Given the description of an element on the screen output the (x, y) to click on. 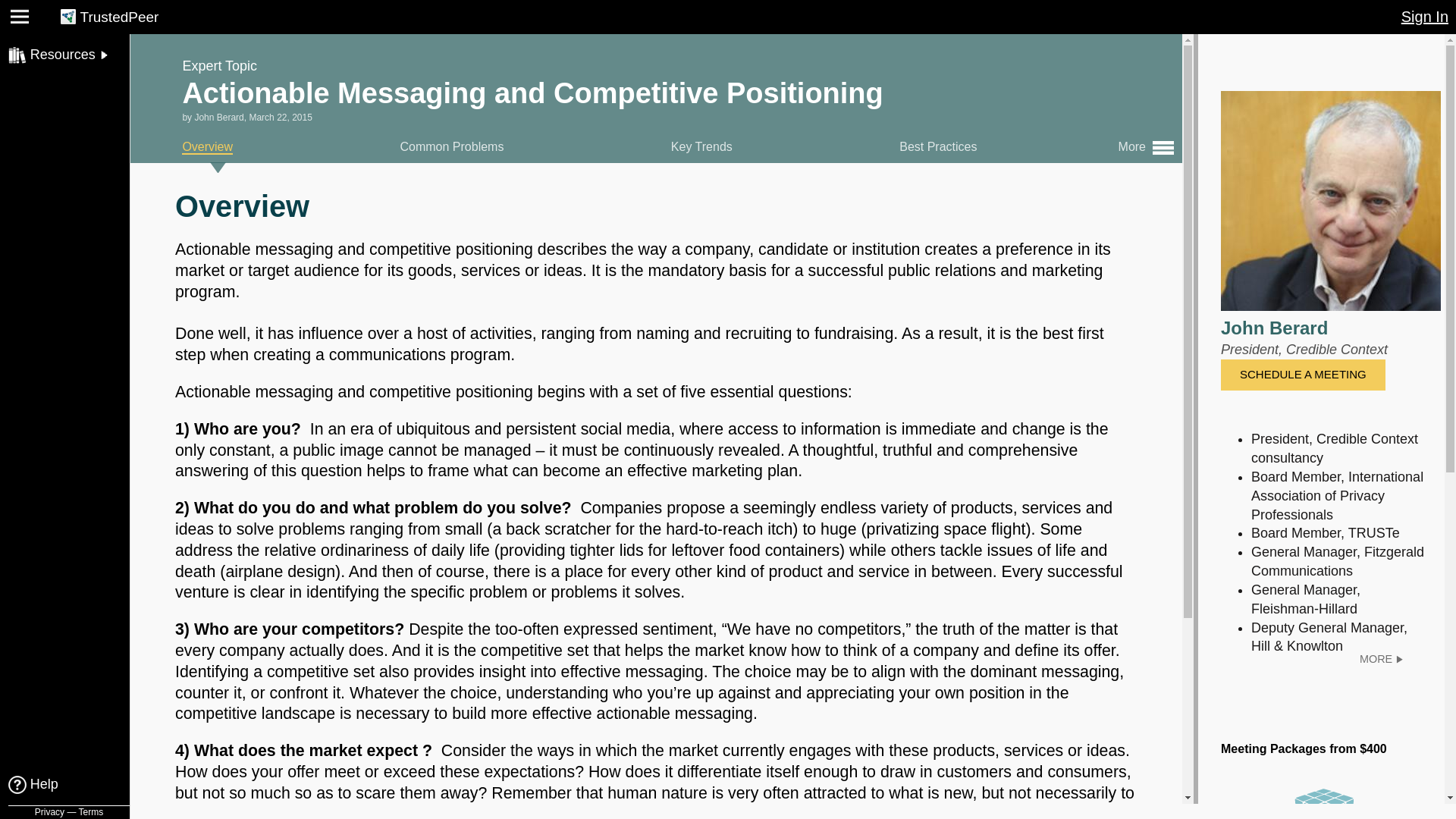
Best Practices (937, 146)
Terms (90, 811)
Key Trends (701, 146)
Privacy (49, 811)
Credible Context (1336, 349)
Jump to Menu Navigation (44, 25)
View Expert's Profile (1382, 658)
View John Berard's Profile (1274, 327)
John Berard (1274, 327)
Jump to Main Content (36, 25)
Common Problems (451, 146)
TrustedPeer (119, 17)
SCHEDULE A MEETING (1303, 374)
Overview (207, 147)
